Given the description of an element on the screen output the (x, y) to click on. 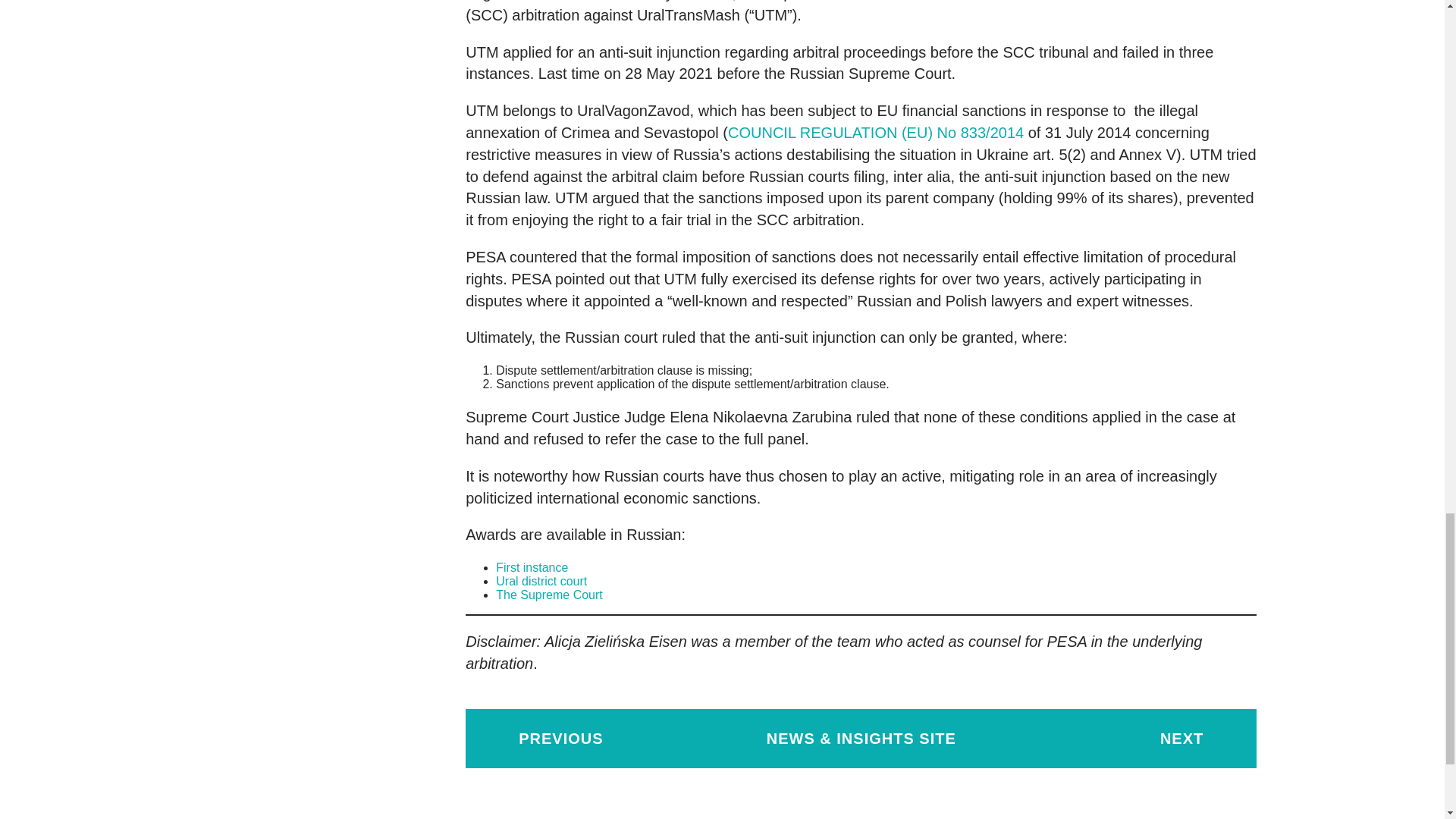
Ural district court (541, 581)
First instance (531, 567)
The Supreme Court (549, 594)
